Given the description of an element on the screen output the (x, y) to click on. 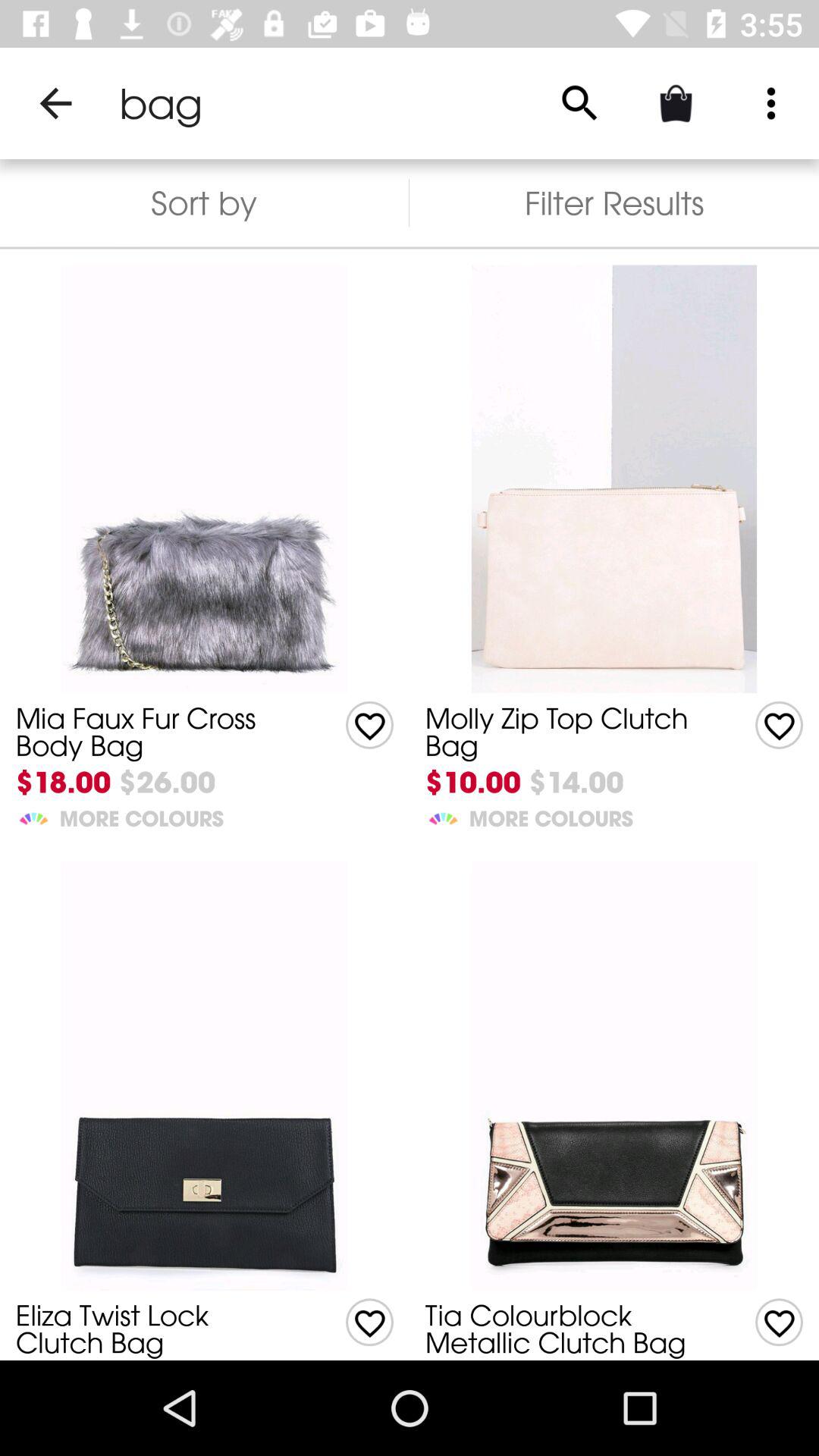
tap item next to bag (55, 103)
